Given the description of an element on the screen output the (x, y) to click on. 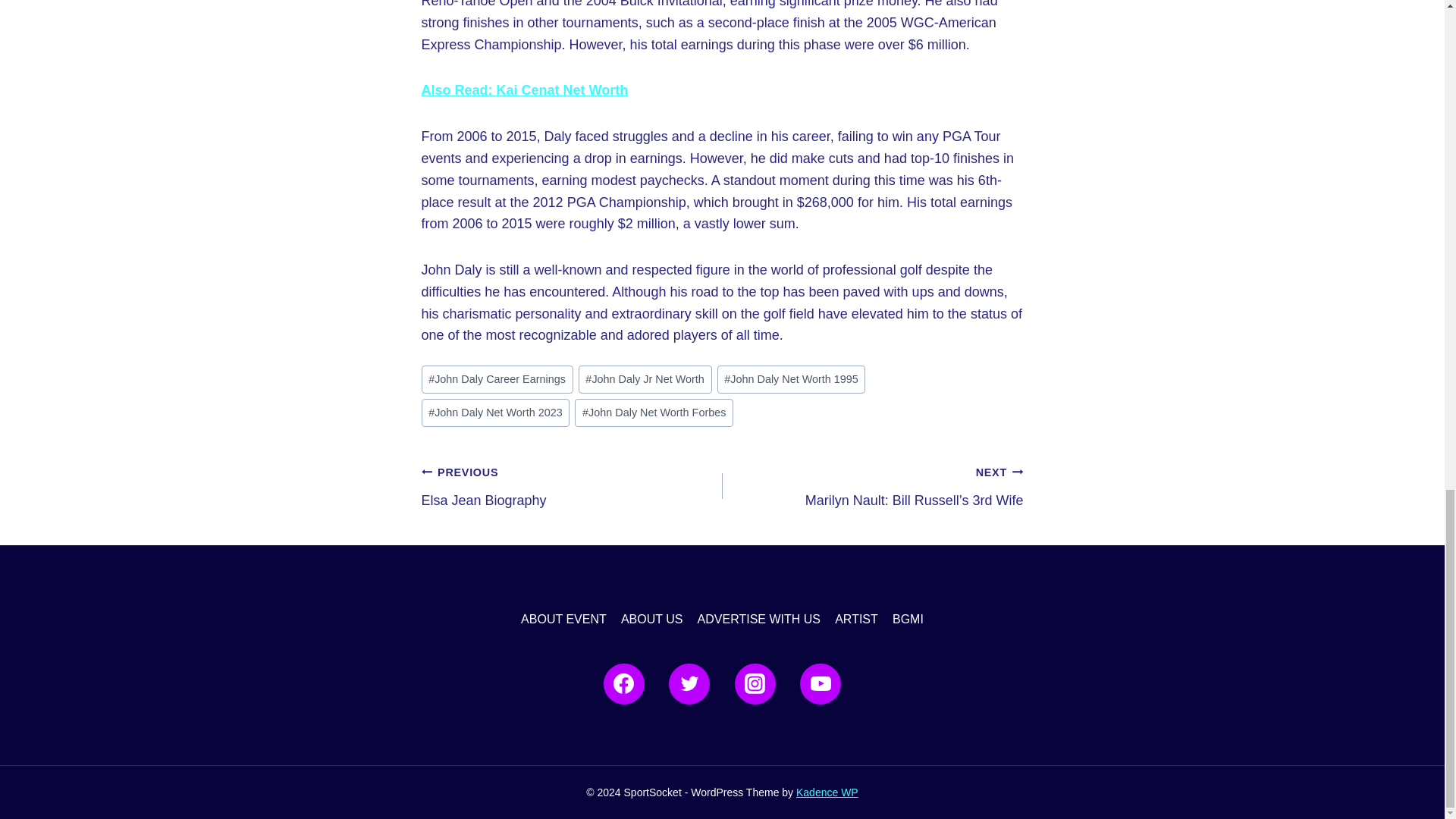
ABOUT EVENT (563, 619)
John Daly Jr Net Worth (644, 379)
ADVERTISE WITH US (759, 619)
John Daly Career Earnings (497, 379)
Also Read: Kai Cenat Net Worth (525, 89)
Kadence WP (827, 792)
John Daly Net Worth Forbes (654, 412)
ARTIST (856, 619)
John Daly Net Worth 1995 (791, 379)
